Given the description of an element on the screen output the (x, y) to click on. 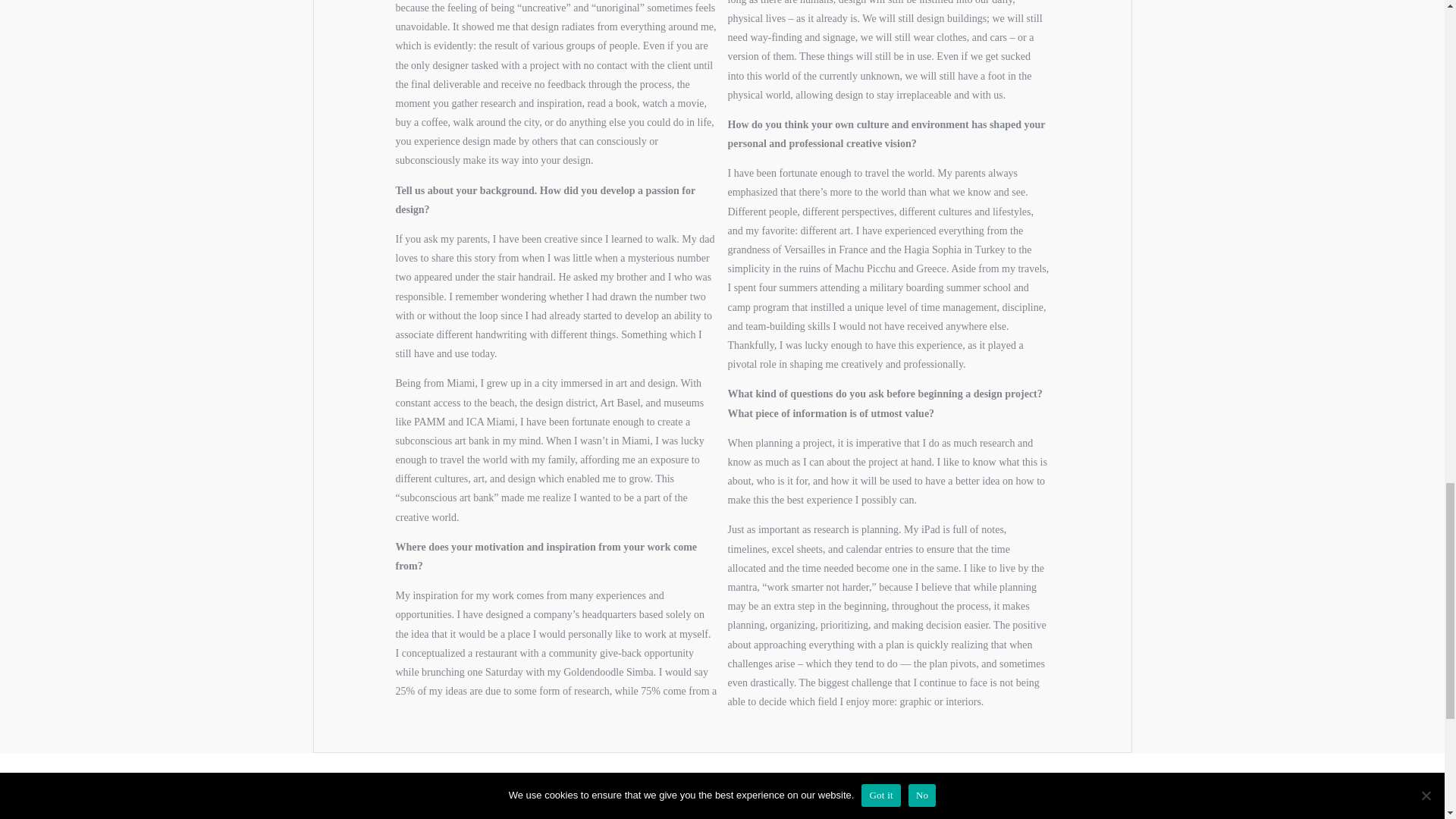
CONTACT IDA (436, 813)
ABOUT IDA (721, 813)
